Given the description of an element on the screen output the (x, y) to click on. 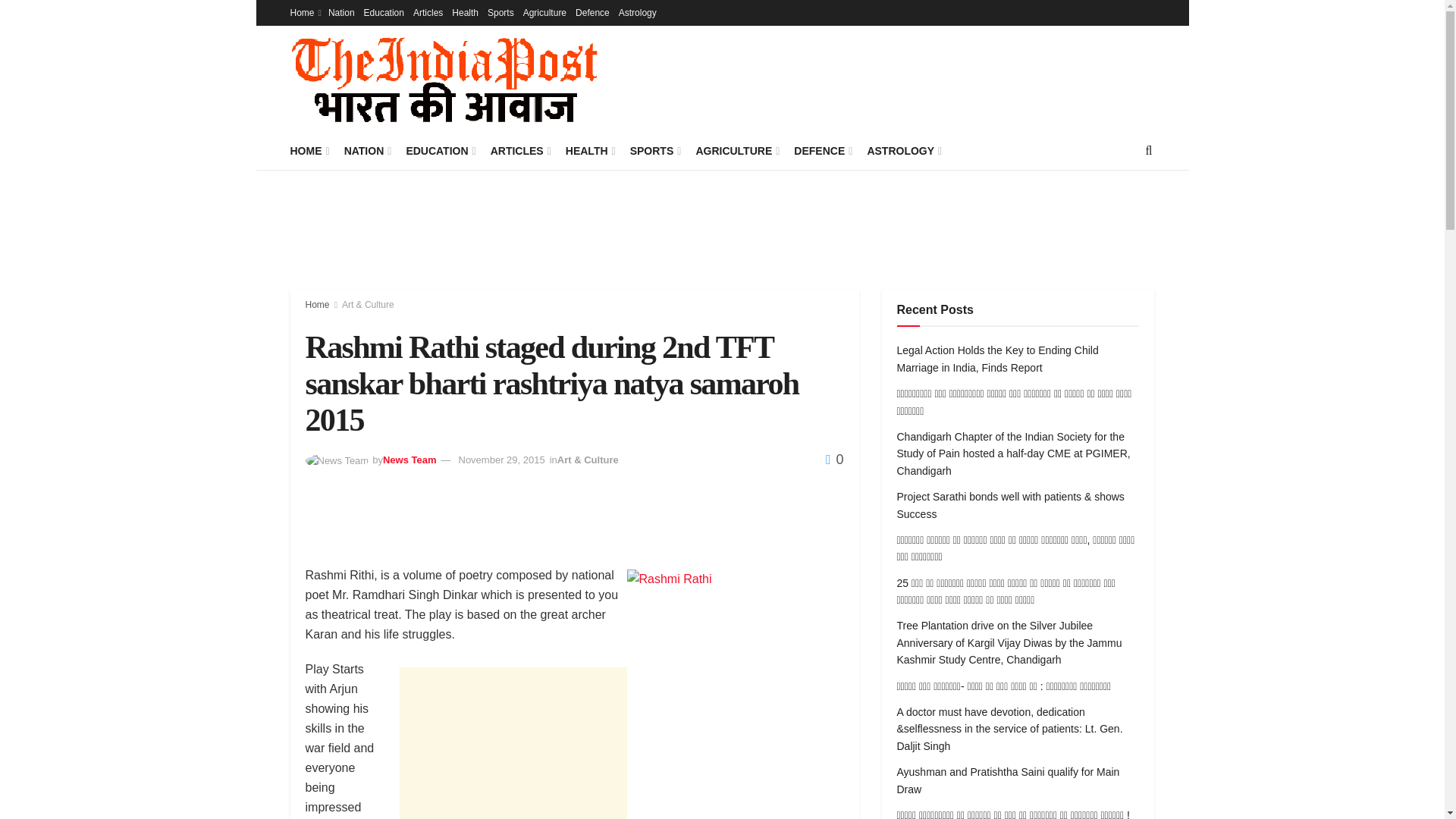
Advertisement (580, 527)
HOME (307, 150)
Nation (342, 12)
Home (303, 12)
Sports (500, 12)
Astrology (637, 12)
Health (465, 12)
NATION (366, 150)
Advertisement (722, 227)
Articles (427, 12)
Agriculture (544, 12)
Advertisement (512, 743)
Advertisement (894, 76)
Defence (592, 12)
Education (384, 12)
